Given the description of an element on the screen output the (x, y) to click on. 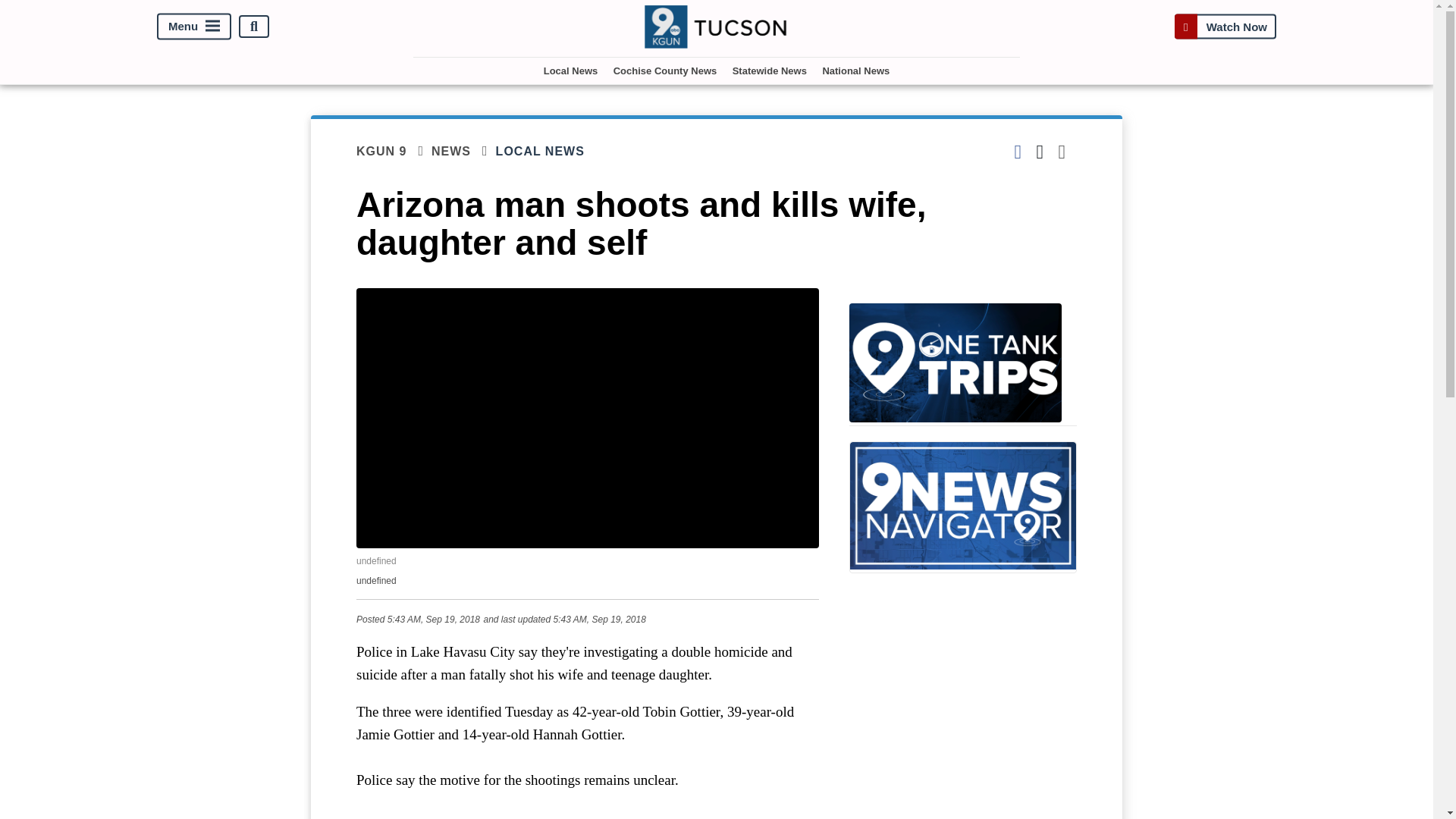
Watch Now (1224, 26)
Menu (194, 26)
